Given the description of an element on the screen output the (x, y) to click on. 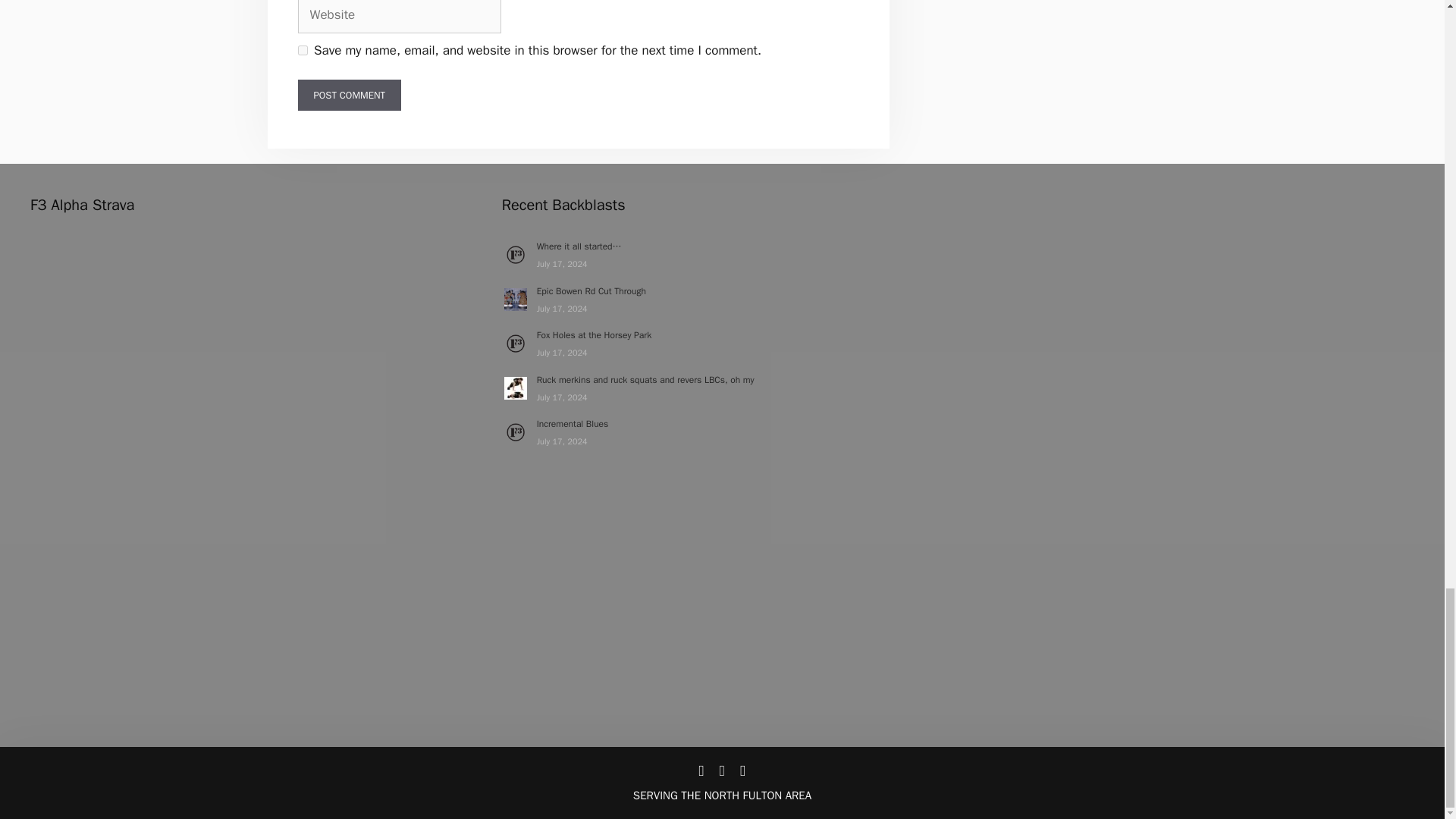
Post Comment (349, 95)
yes (302, 50)
